Given the description of an element on the screen output the (x, y) to click on. 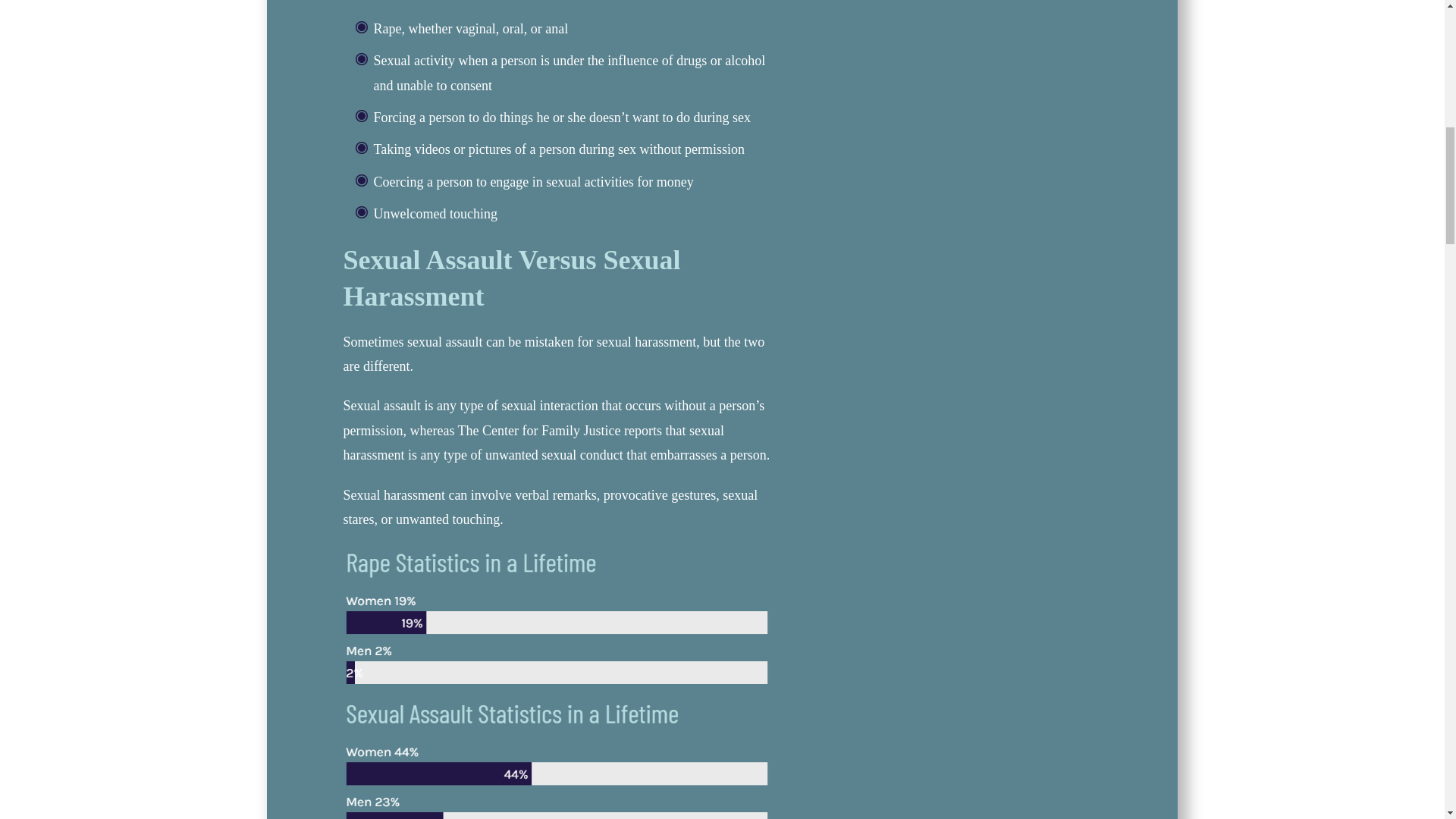
stats (556, 683)
